Given the description of an element on the screen output the (x, y) to click on. 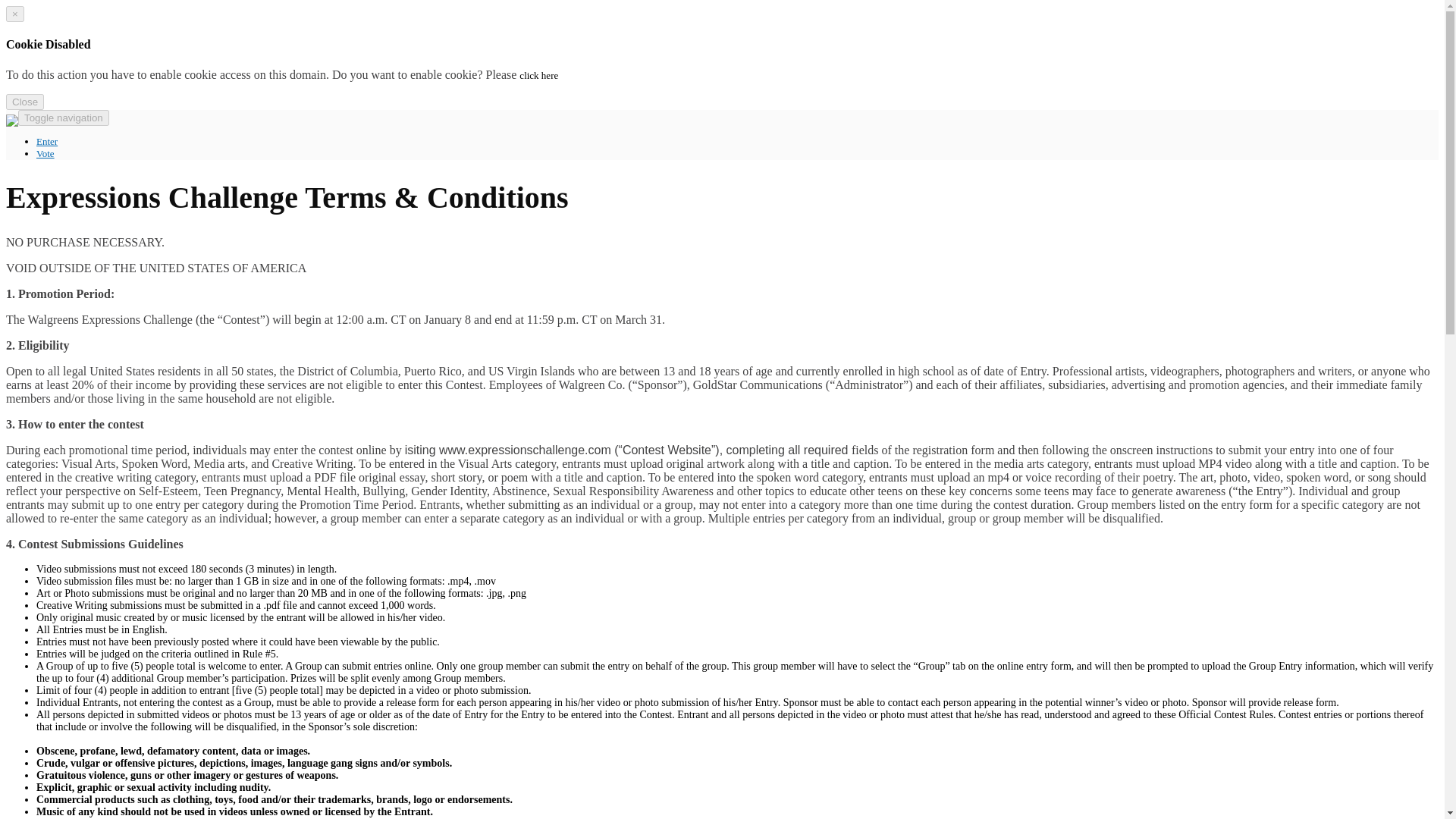
Enter (47, 141)
Vote (45, 153)
click here (538, 75)
Toggle navigation (63, 117)
Close (24, 101)
